Given the description of an element on the screen output the (x, y) to click on. 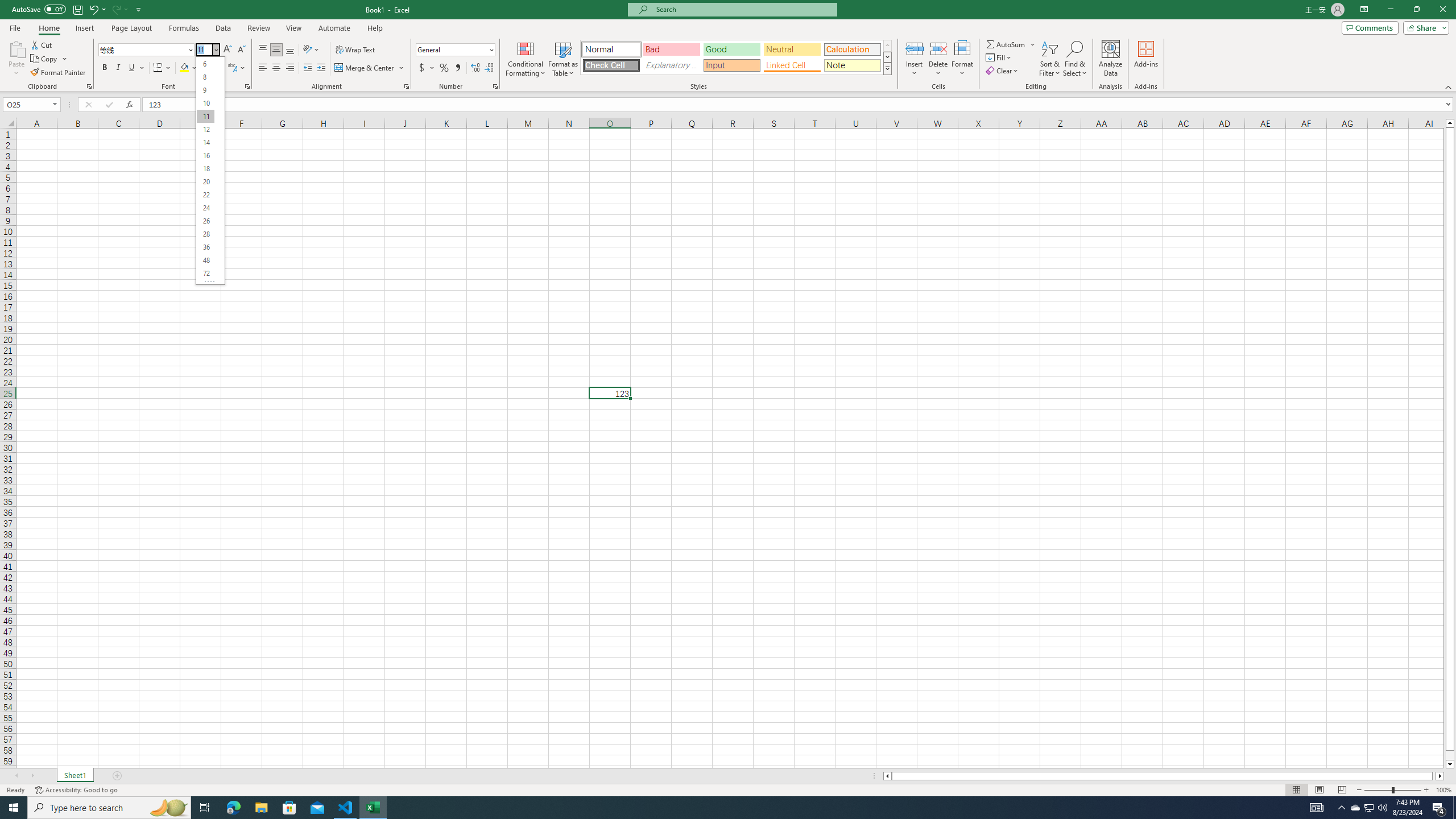
Good (731, 49)
28 (205, 233)
Font Color (210, 67)
Orientation (311, 49)
Format Painter (58, 72)
Font Size (207, 49)
Accounting Number Format (422, 67)
Font (142, 49)
8 (205, 76)
Fill Color (188, 67)
